Given the description of an element on the screen output the (x, y) to click on. 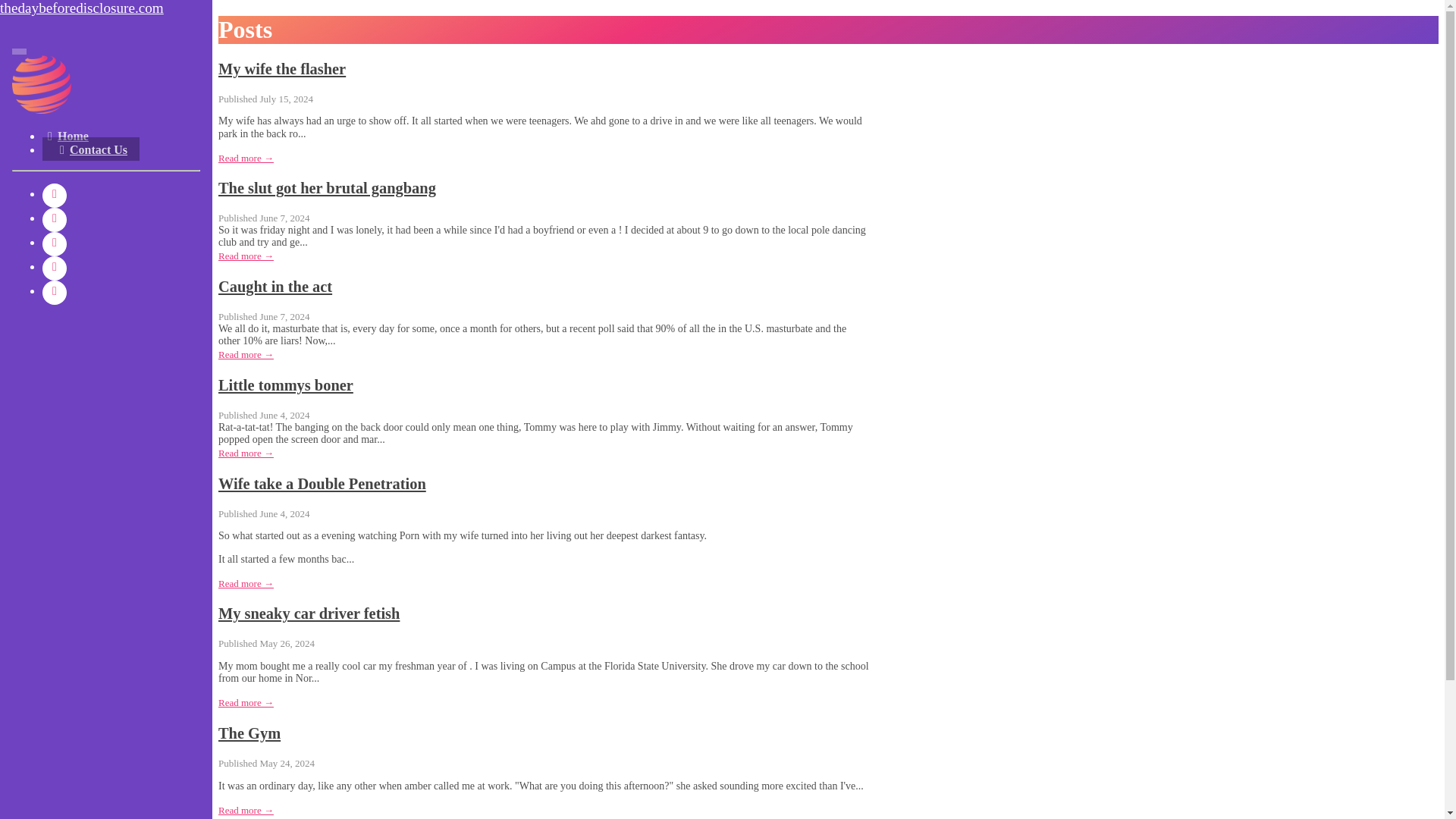
thedaybeforedisclosure.com (106, 8)
Little tommys boner (285, 384)
Caught in the act (274, 286)
Wife take a Double Penetration (322, 483)
The slut got her brutal gangbang (326, 187)
My sneaky car driver fetish (308, 613)
My wife the flasher (282, 68)
The Gym (249, 733)
Contact Us (90, 148)
